Given the description of an element on the screen output the (x, y) to click on. 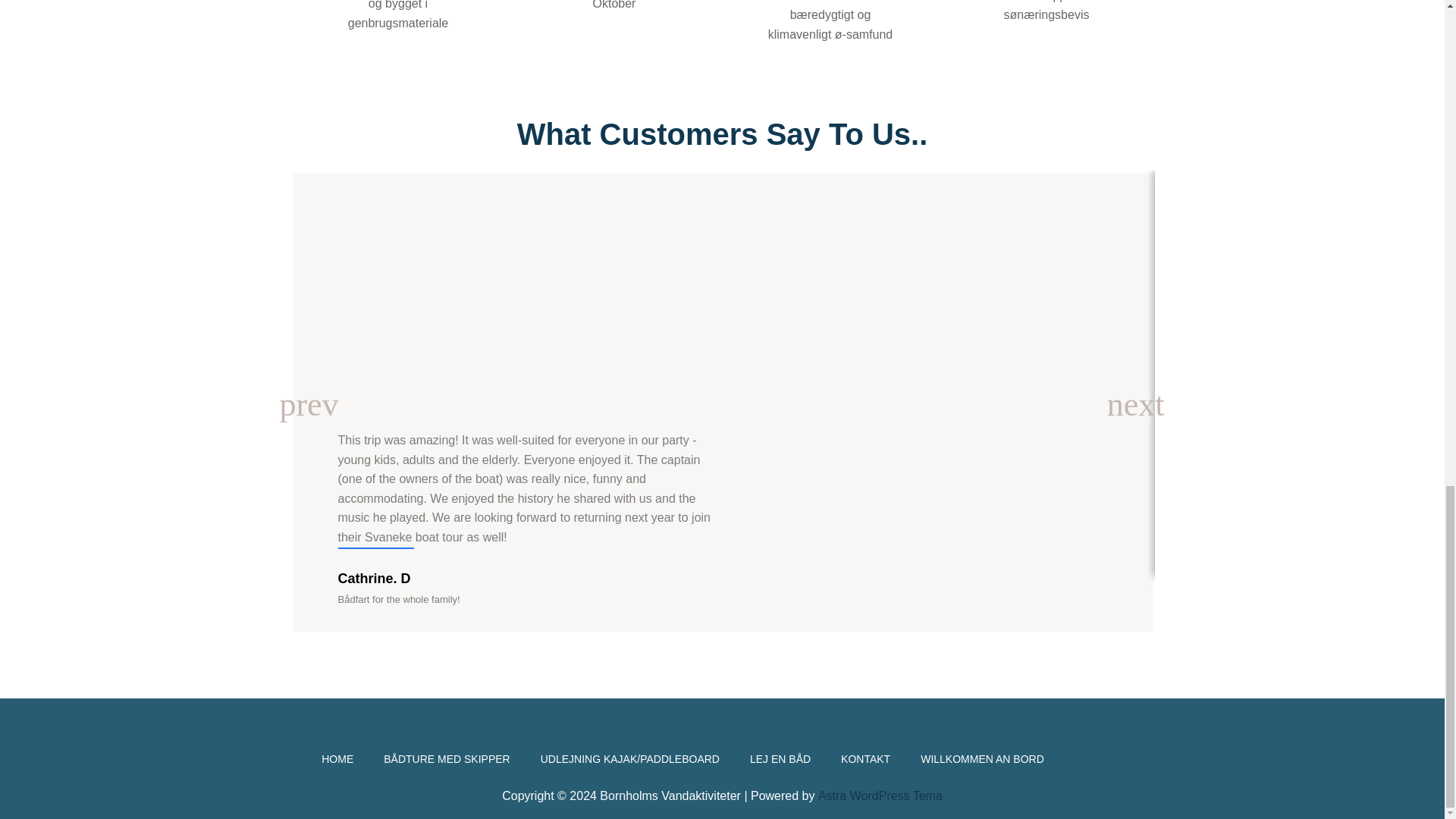
English (1112, 758)
